Given the description of an element on the screen output the (x, y) to click on. 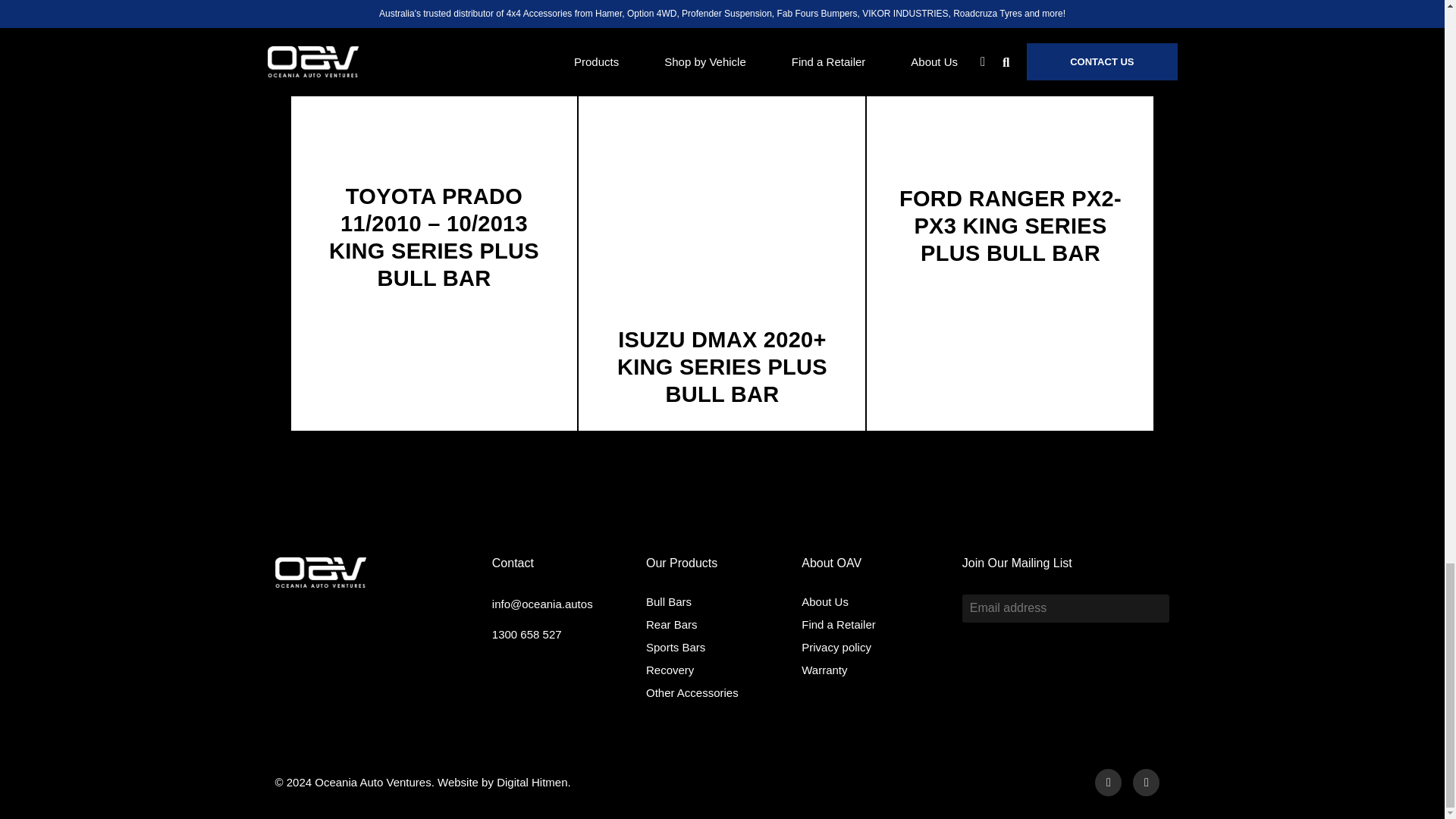
Submit (1153, 608)
